Given the description of an element on the screen output the (x, y) to click on. 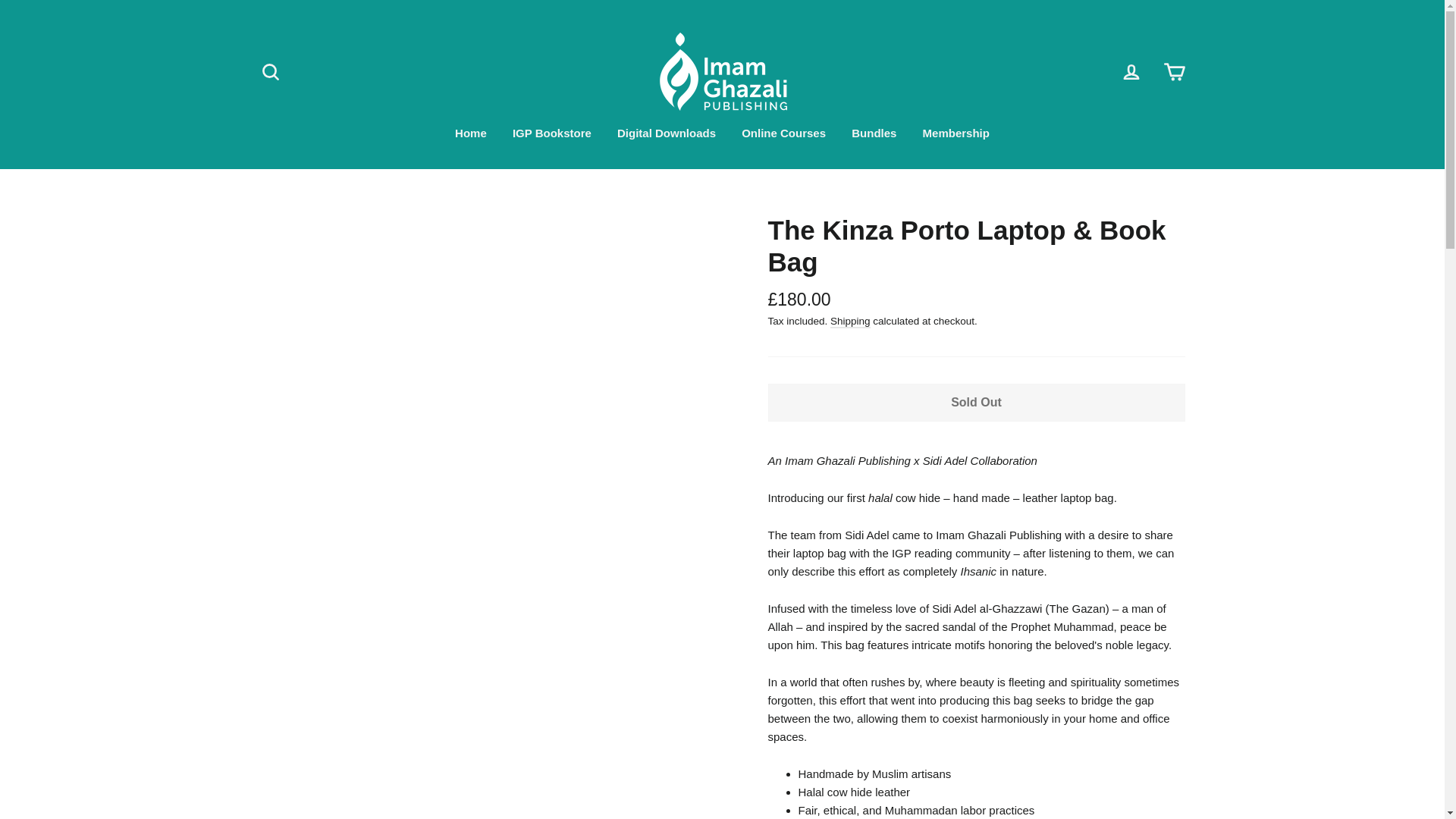
Bundles (873, 133)
IGP Bookstore (551, 133)
Membership (956, 133)
Cart (1173, 71)
Log in (1131, 71)
Digital Downloads (665, 133)
Home (470, 133)
Online Courses (783, 133)
Search (269, 71)
